Given the description of an element on the screen output the (x, y) to click on. 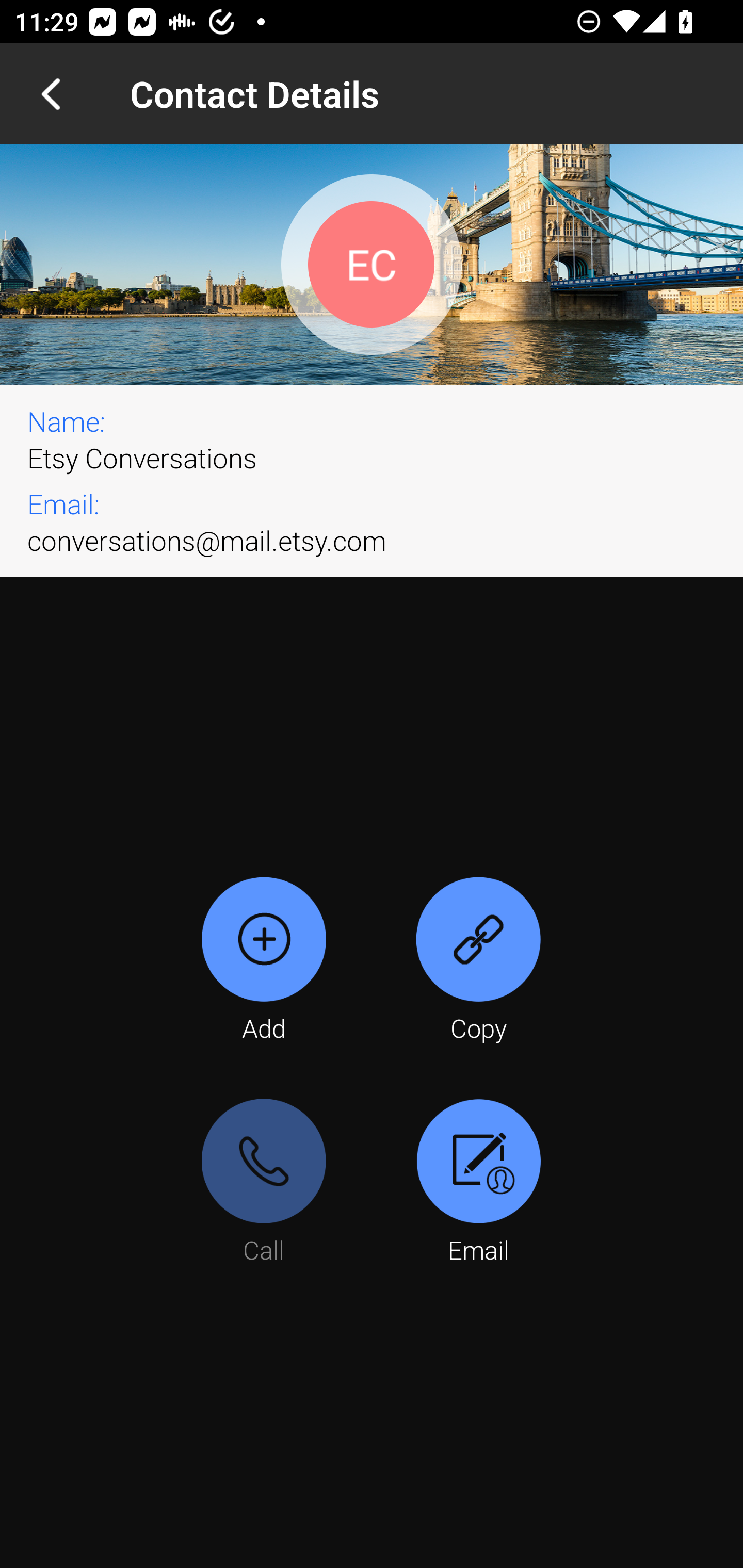
Navigate up (50, 93)
Add (264, 961)
Copy (478, 961)
Call (264, 1182)
Email (478, 1182)
